Given the description of an element on the screen output the (x, y) to click on. 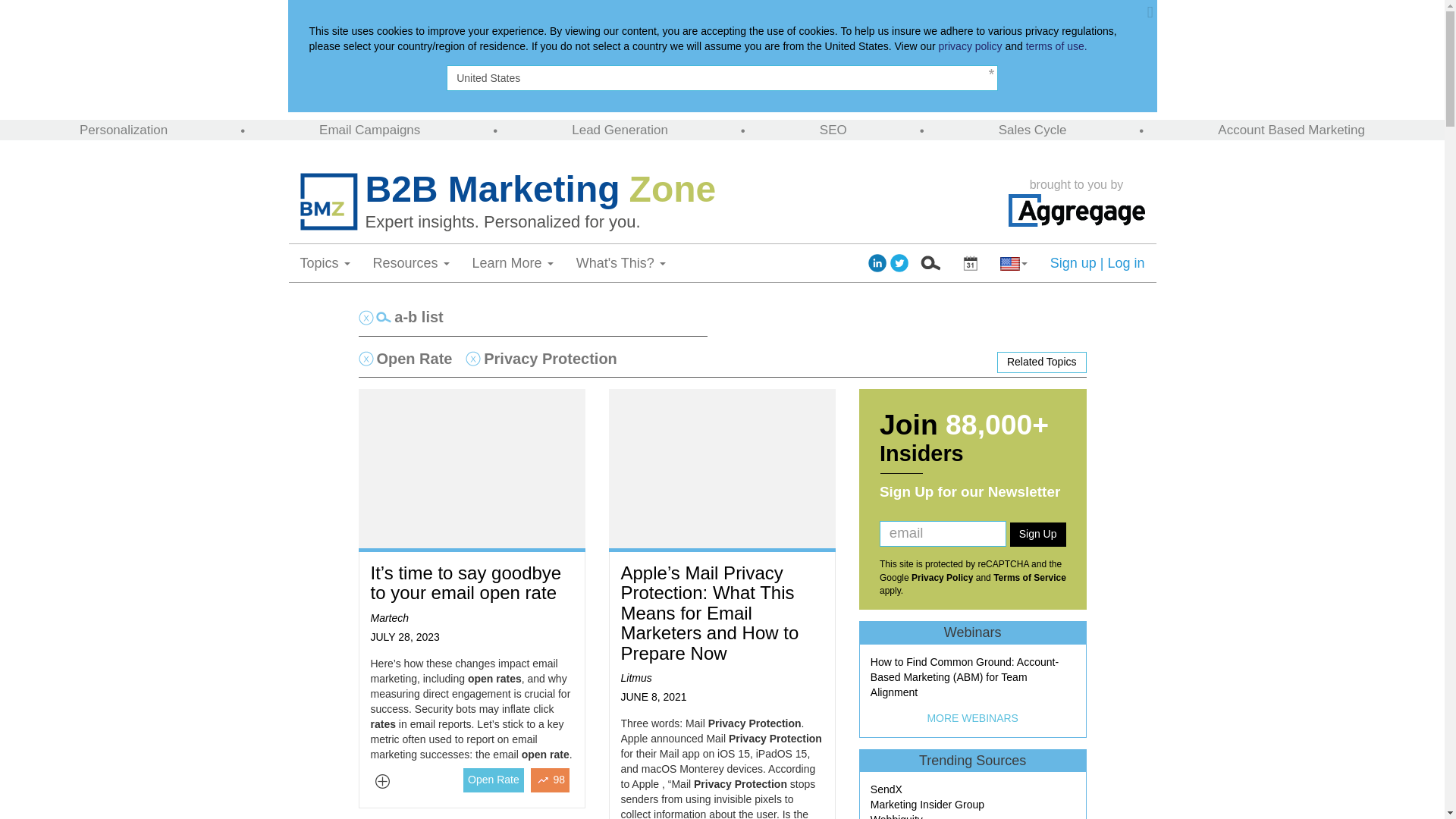
United States (721, 77)
Account Based Marketing (1291, 129)
Account Based Marketing (1291, 129)
SEO (833, 129)
Aggregage (1076, 210)
Personalization (123, 129)
Email Campaigns (369, 129)
Personalization (123, 129)
Select your country (1013, 262)
B2B Marketing Zone (683, 189)
